Given the description of an element on the screen output the (x, y) to click on. 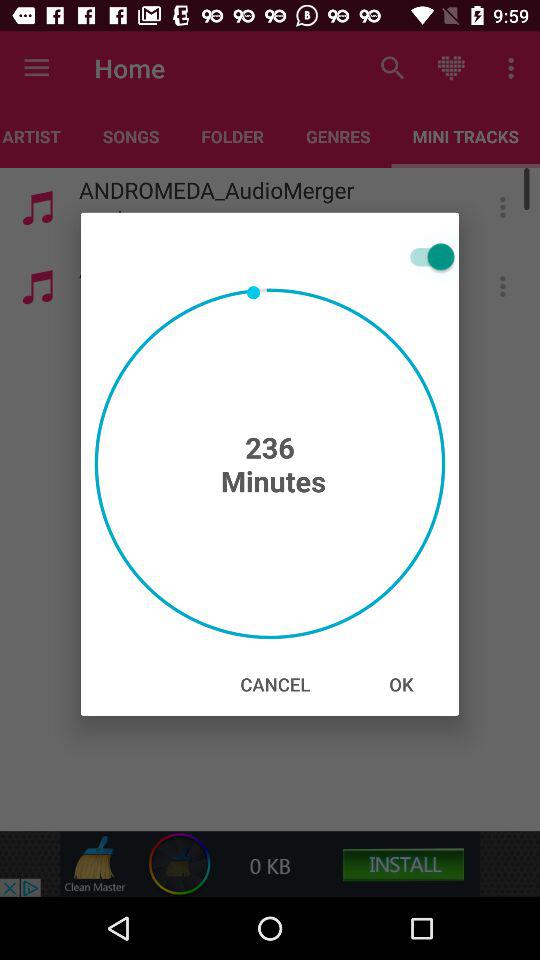
click the icon next to the cancel (401, 683)
